Given the description of an element on the screen output the (x, y) to click on. 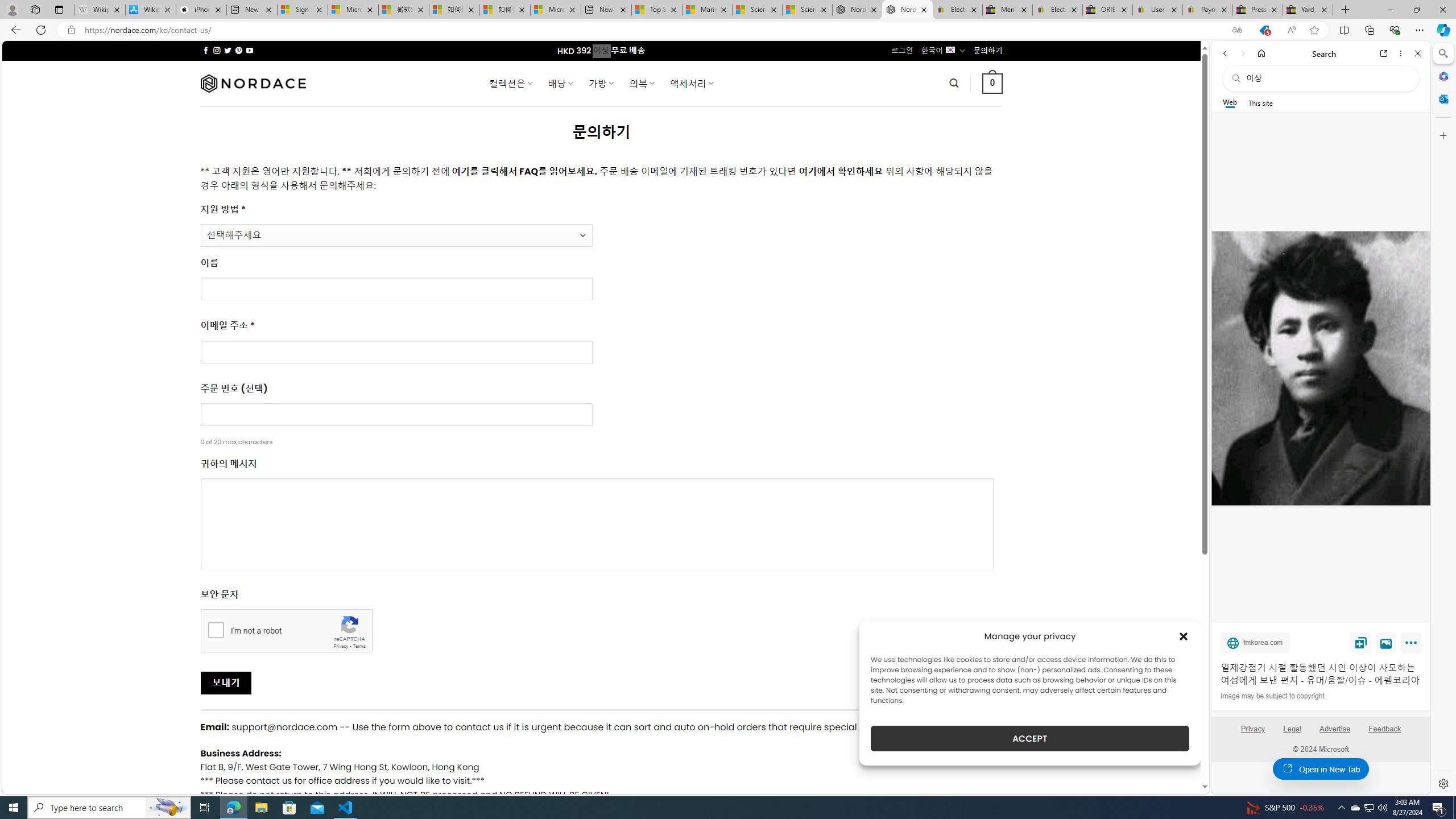
Class: cmplz-close (1183, 636)
Save (1361, 642)
